Given the description of an element on the screen output the (x, y) to click on. 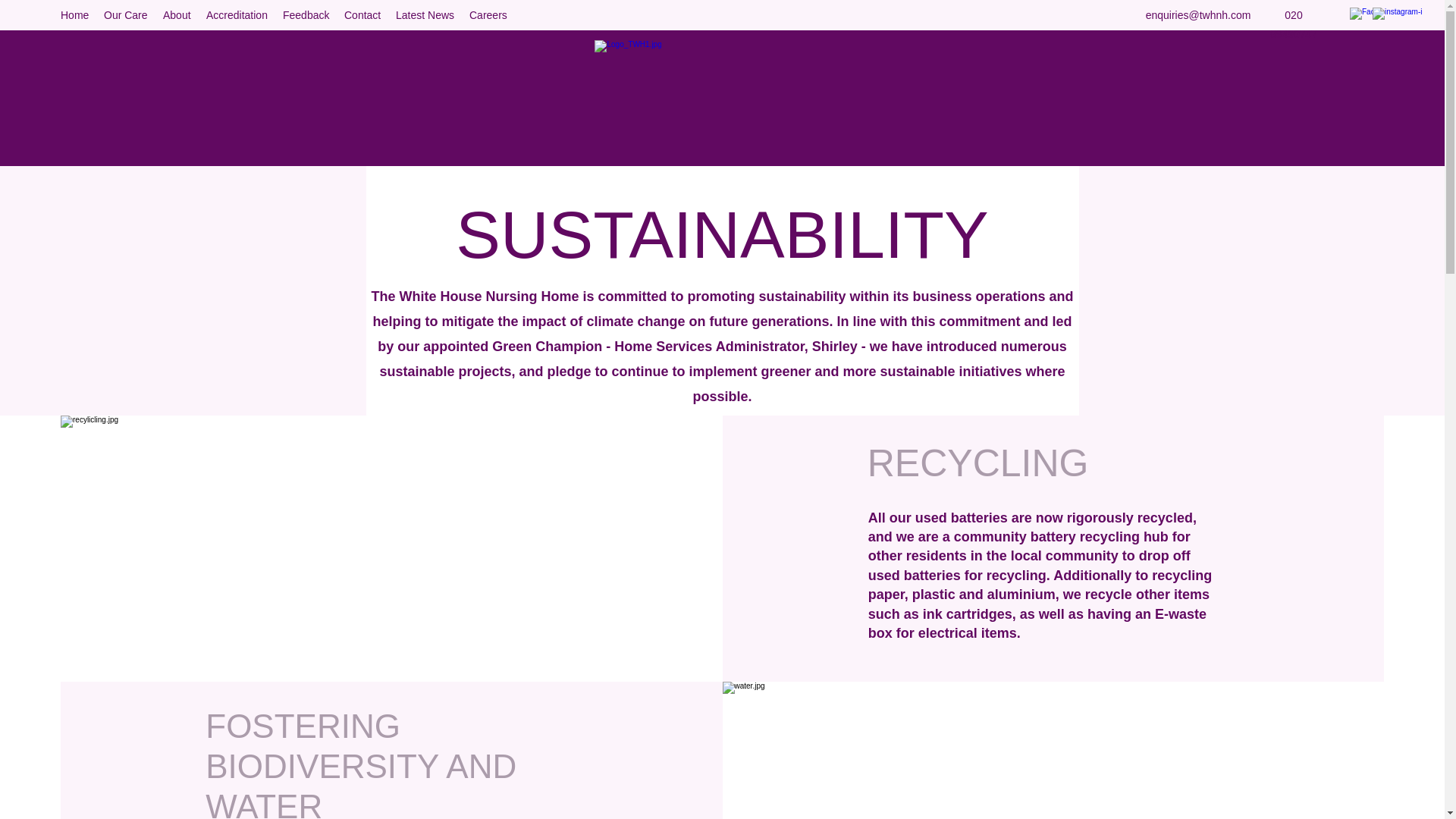
Latest News (424, 15)
Contact (362, 15)
Home (74, 15)
Careers (488, 15)
